Given the description of an element on the screen output the (x, y) to click on. 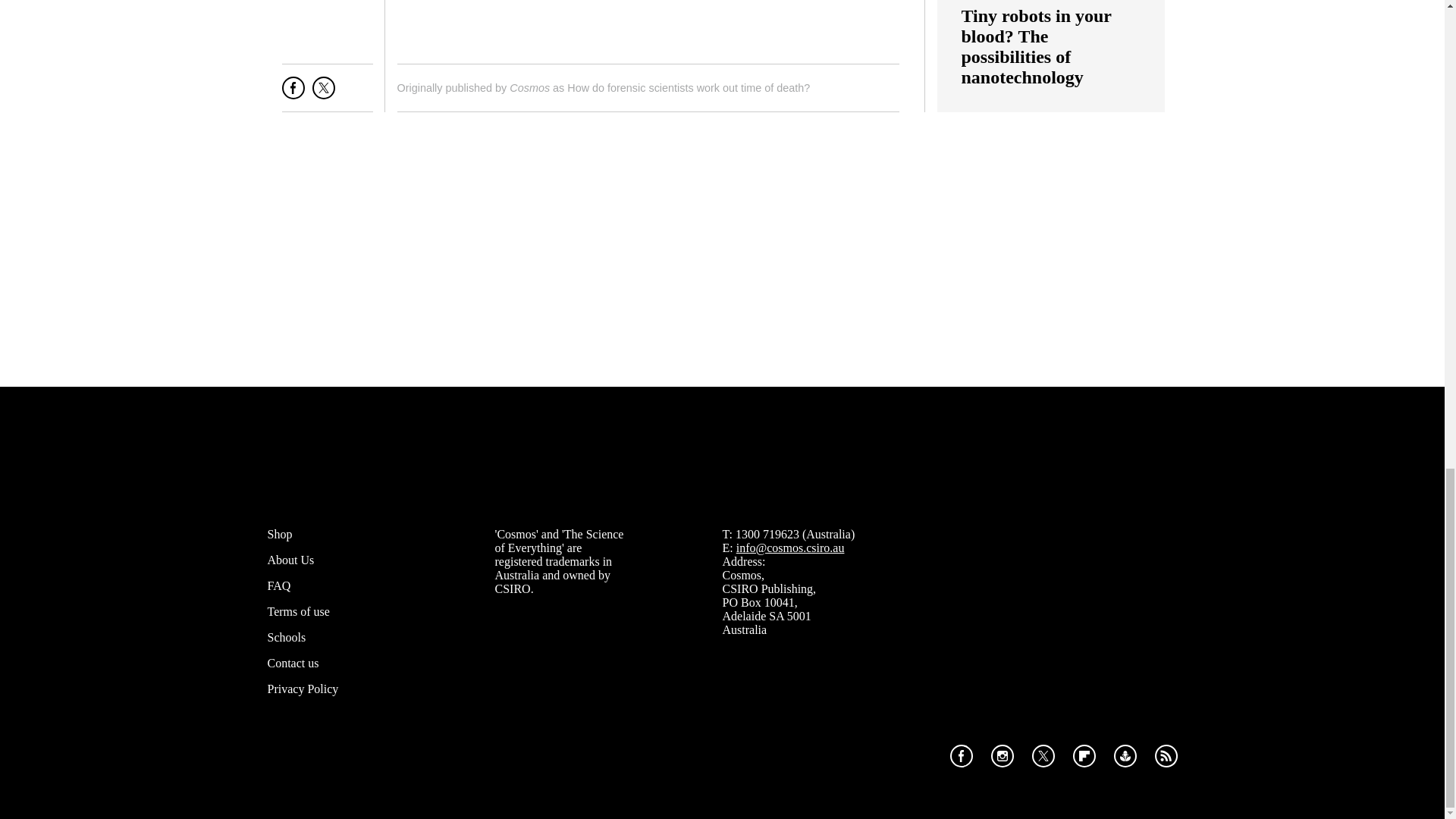
How do forensic scientists work out time of death? (688, 87)
Cosmos (529, 87)
Tweet (323, 93)
How do forensic scientists work out time of death? (688, 87)
The Science Briefing (648, 23)
Share on Facebook (293, 93)
